Given the description of an element on the screen output the (x, y) to click on. 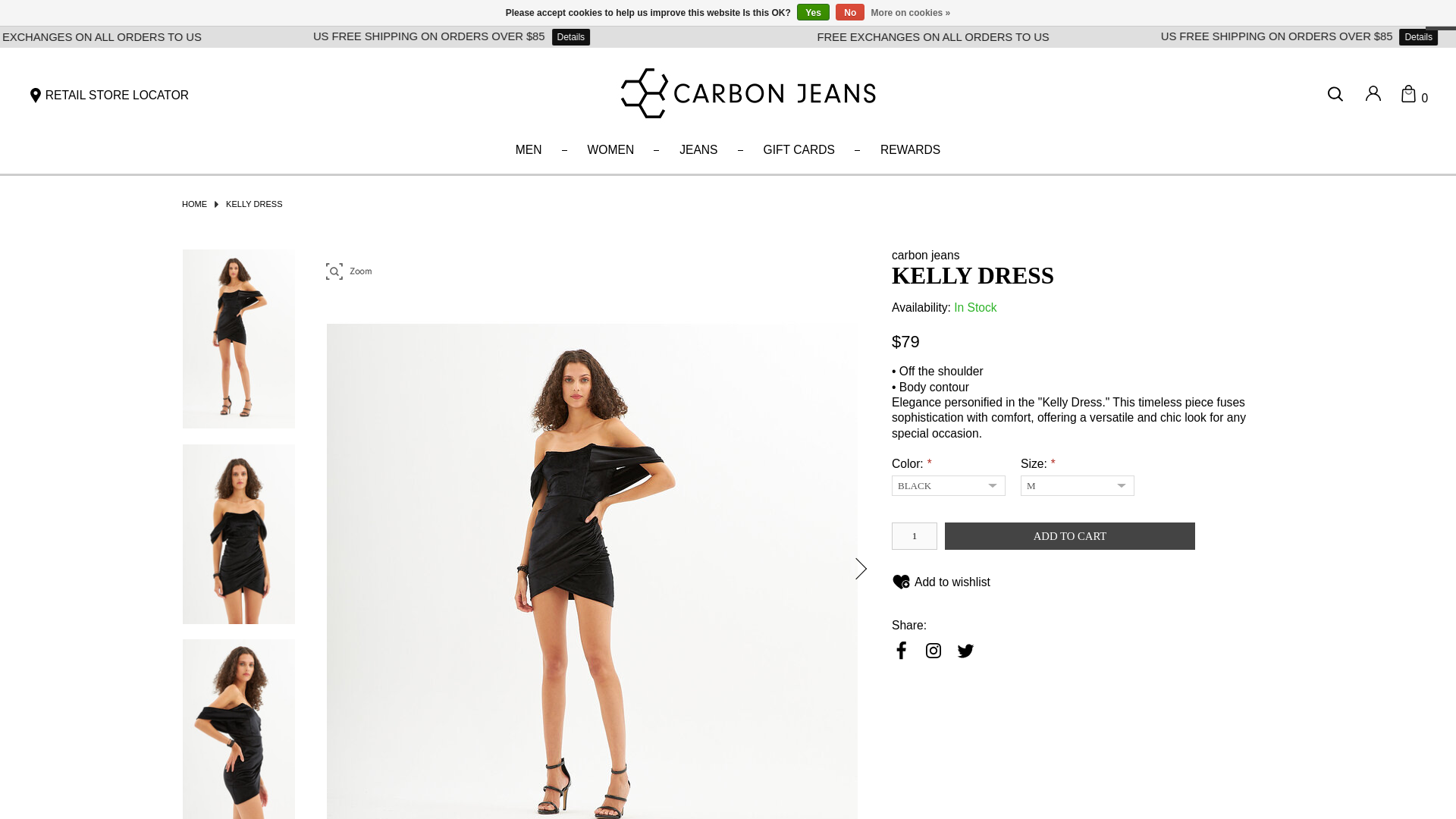
Search (1336, 93)
0 (1413, 97)
MEN (528, 150)
Cart (1413, 97)
RETAIL STORE LOCATOR (108, 95)
Yes (812, 12)
Login (1372, 96)
More on cookies (910, 13)
No (849, 12)
1 (914, 535)
Details (655, 36)
